Given the description of an element on the screen output the (x, y) to click on. 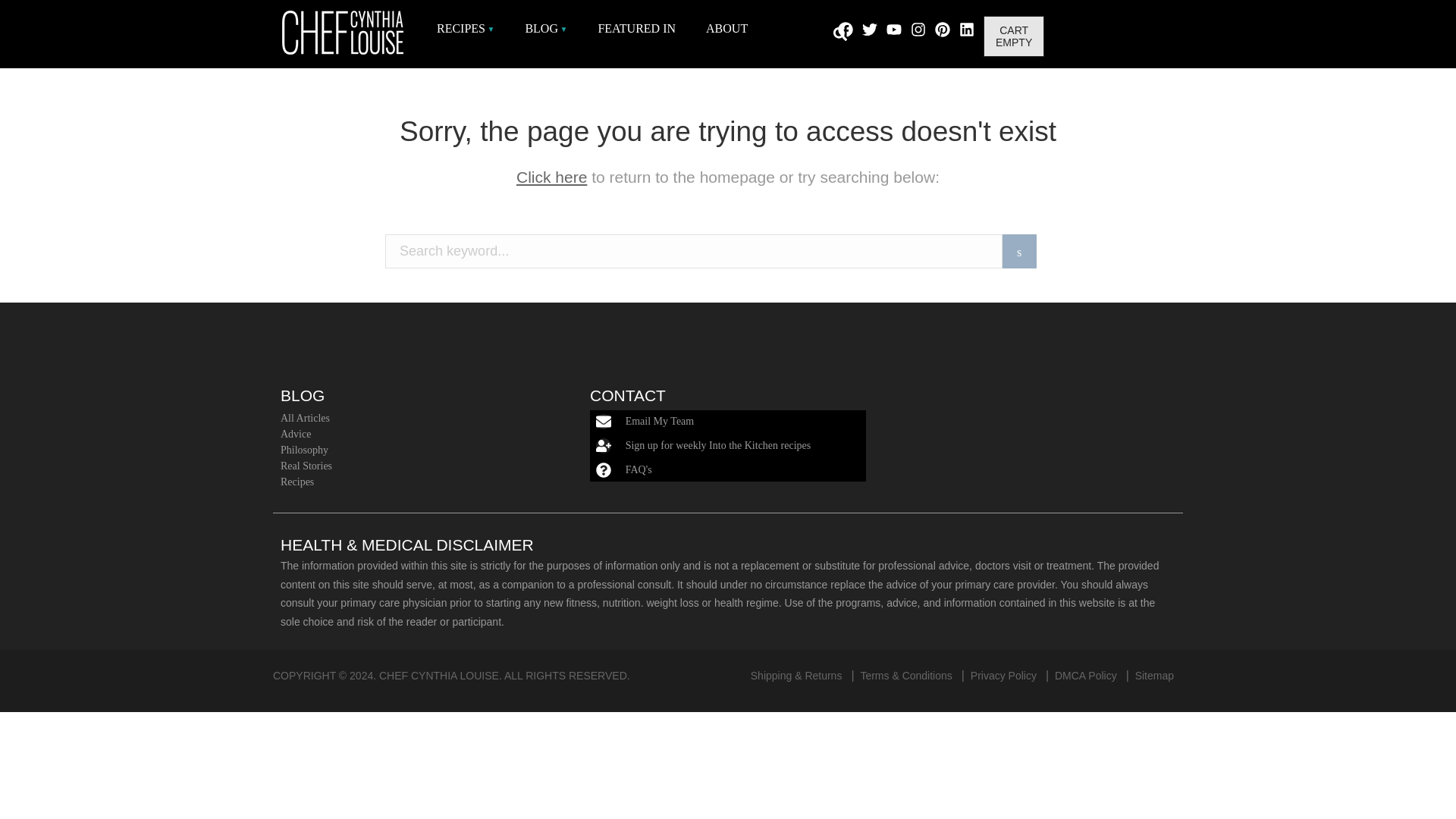
CART EMPTY (1013, 35)
Sitemap (1154, 675)
ABOUT (727, 28)
Email My Team (660, 420)
All Articles (415, 417)
Privacy Policy (1003, 675)
Real Stories (415, 465)
RECIPES (465, 28)
FAQ's (639, 469)
Sign up for weekly Into the Kitchen recipes (718, 445)
